Given the description of an element on the screen output the (x, y) to click on. 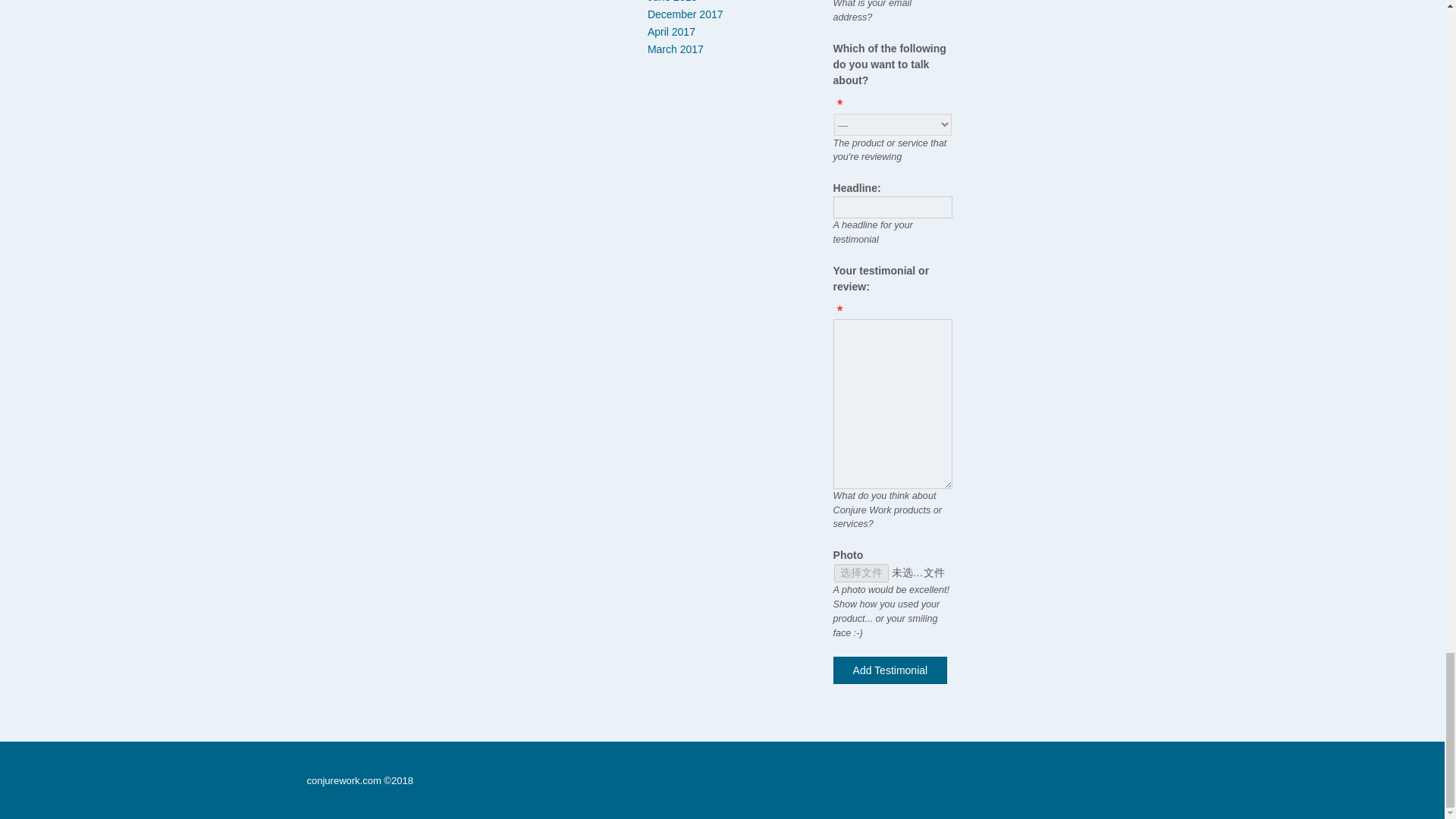
Add Testimonial (889, 669)
